Given the description of an element on the screen output the (x, y) to click on. 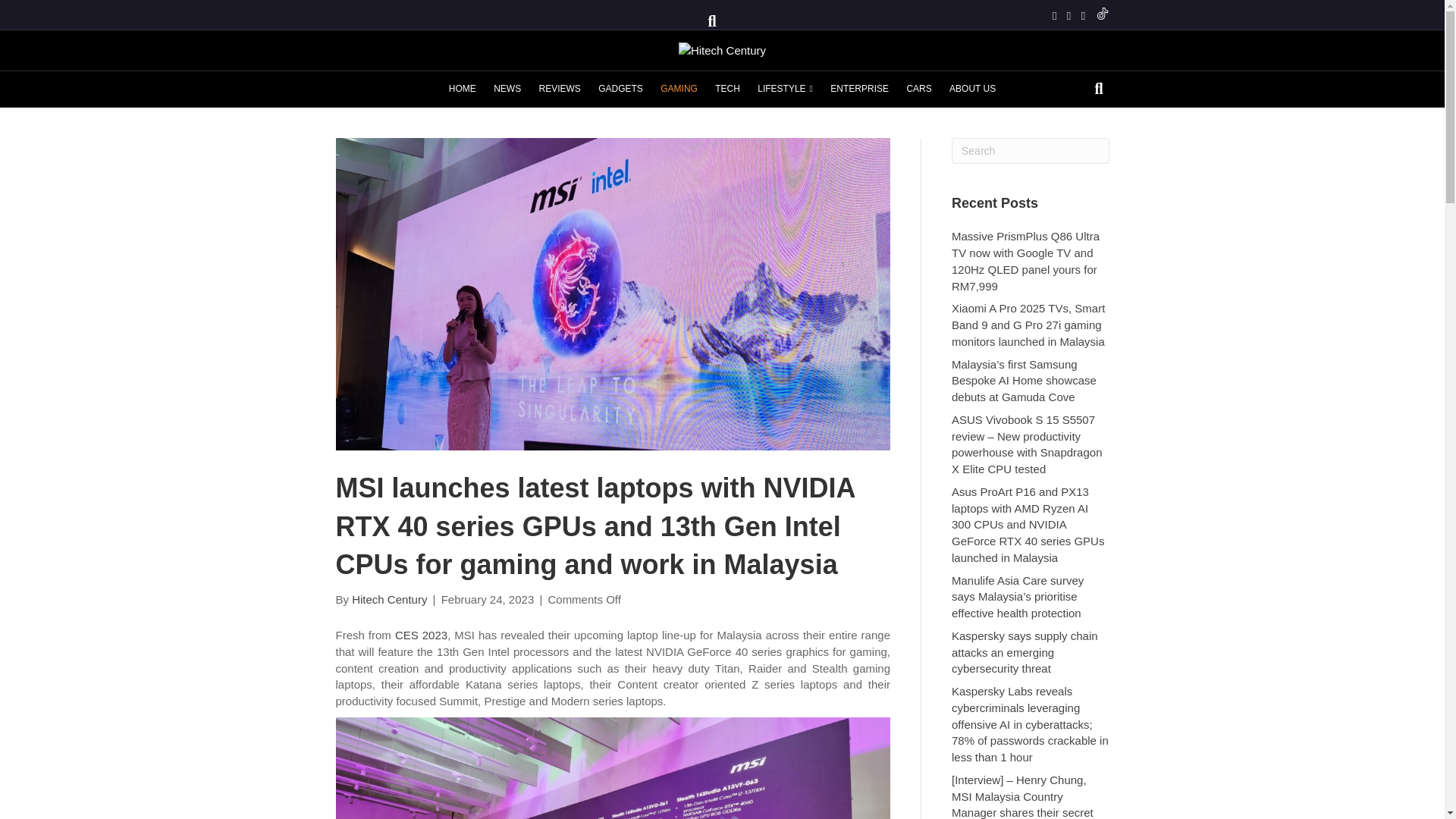
GADGETS (620, 89)
CARS (918, 89)
CES 2023 (420, 634)
Hitech Century (389, 599)
GAMING (678, 89)
LIFESTYLE (785, 89)
ABOUT US (972, 89)
ENTERPRISE (859, 89)
